Given the description of an element on the screen output the (x, y) to click on. 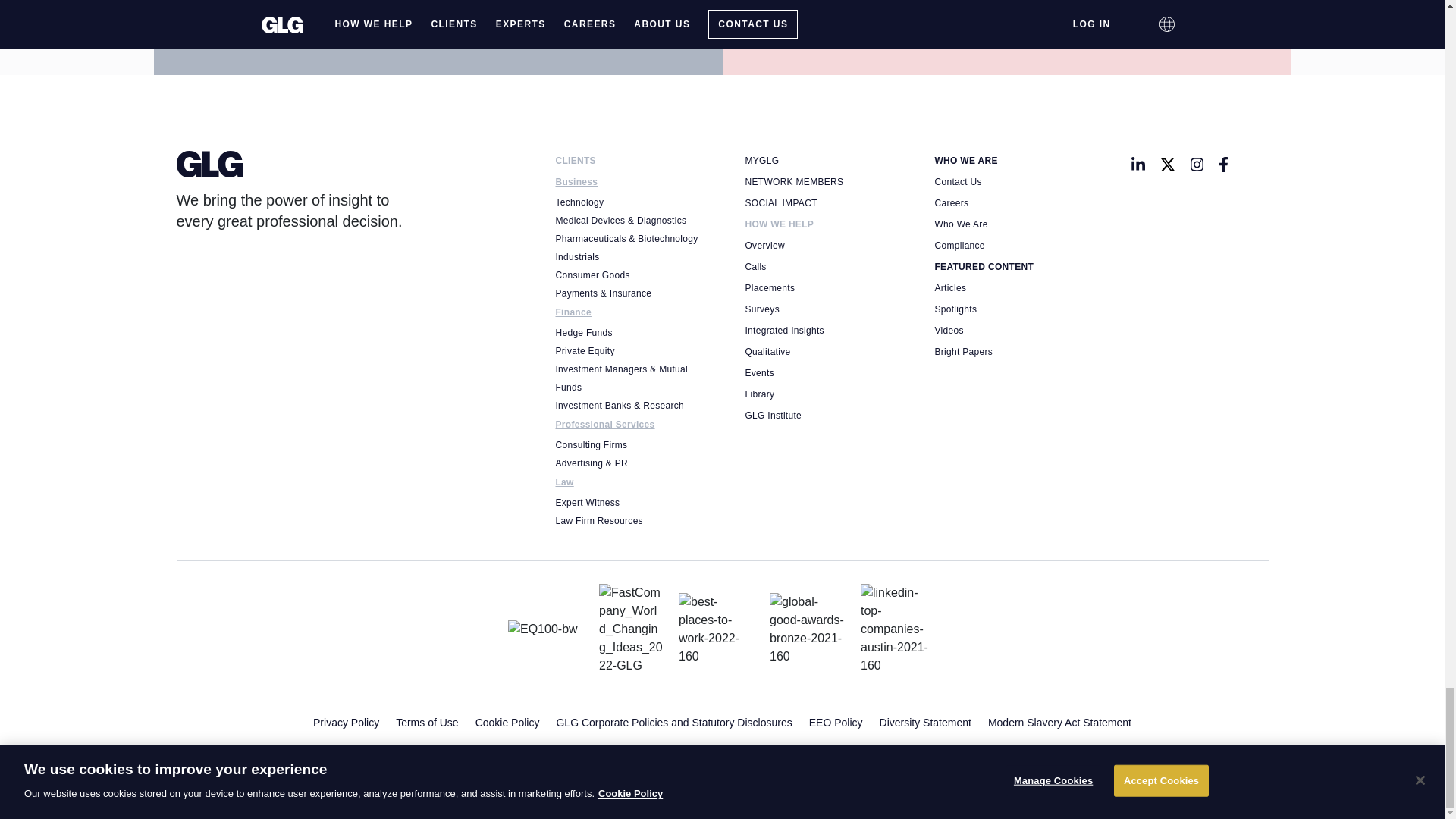
LinkedIn (1137, 164)
Twitter (1167, 164)
Instagram (1197, 164)
